Given the description of an element on the screen output the (x, y) to click on. 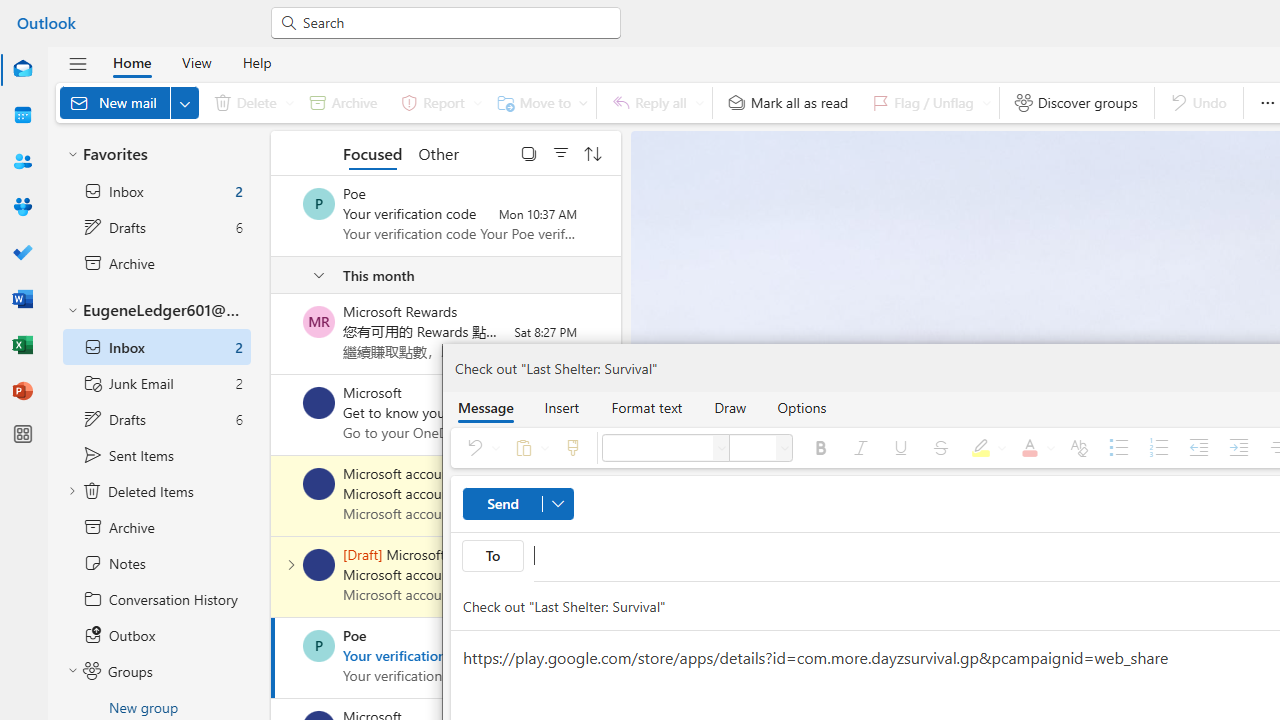
Format text (646, 407)
Insert (561, 407)
Expand to see more report options (477, 102)
Groups (22, 207)
New mail (129, 102)
Microsoft Rewards (319, 321)
Undo (479, 447)
Calendar (22, 115)
Mark as read (273, 657)
Font size (784, 448)
Discover groups (1076, 102)
Select a conversation (319, 645)
Decrease indent (1198, 447)
Expand conversation (291, 564)
